Given the description of an element on the screen output the (x, y) to click on. 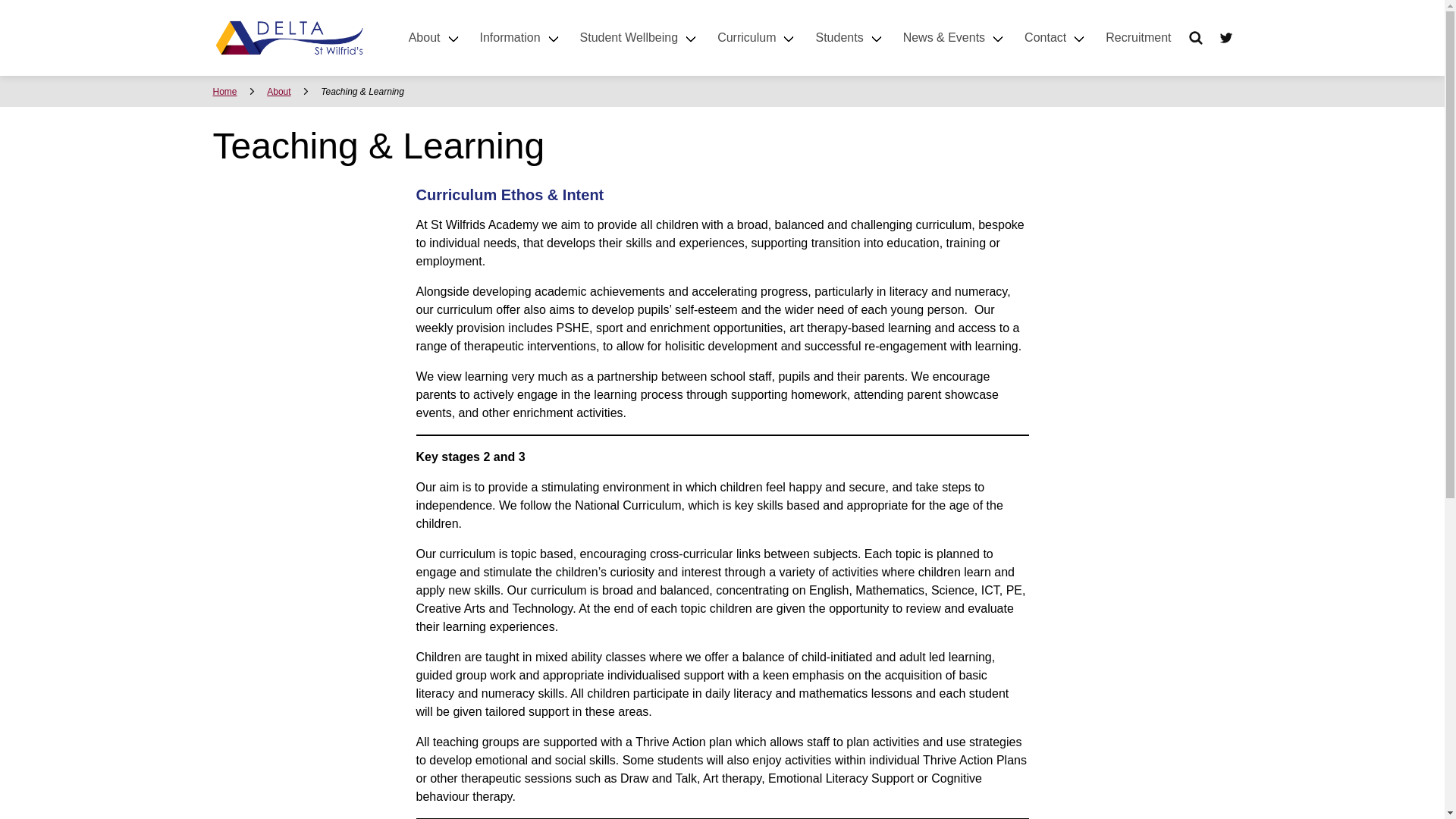
Information (520, 37)
Go to home page (288, 37)
Student Wellbeing (639, 37)
About (434, 37)
About (434, 37)
Curriculum (756, 37)
Information (520, 37)
